Given the description of an element on the screen output the (x, y) to click on. 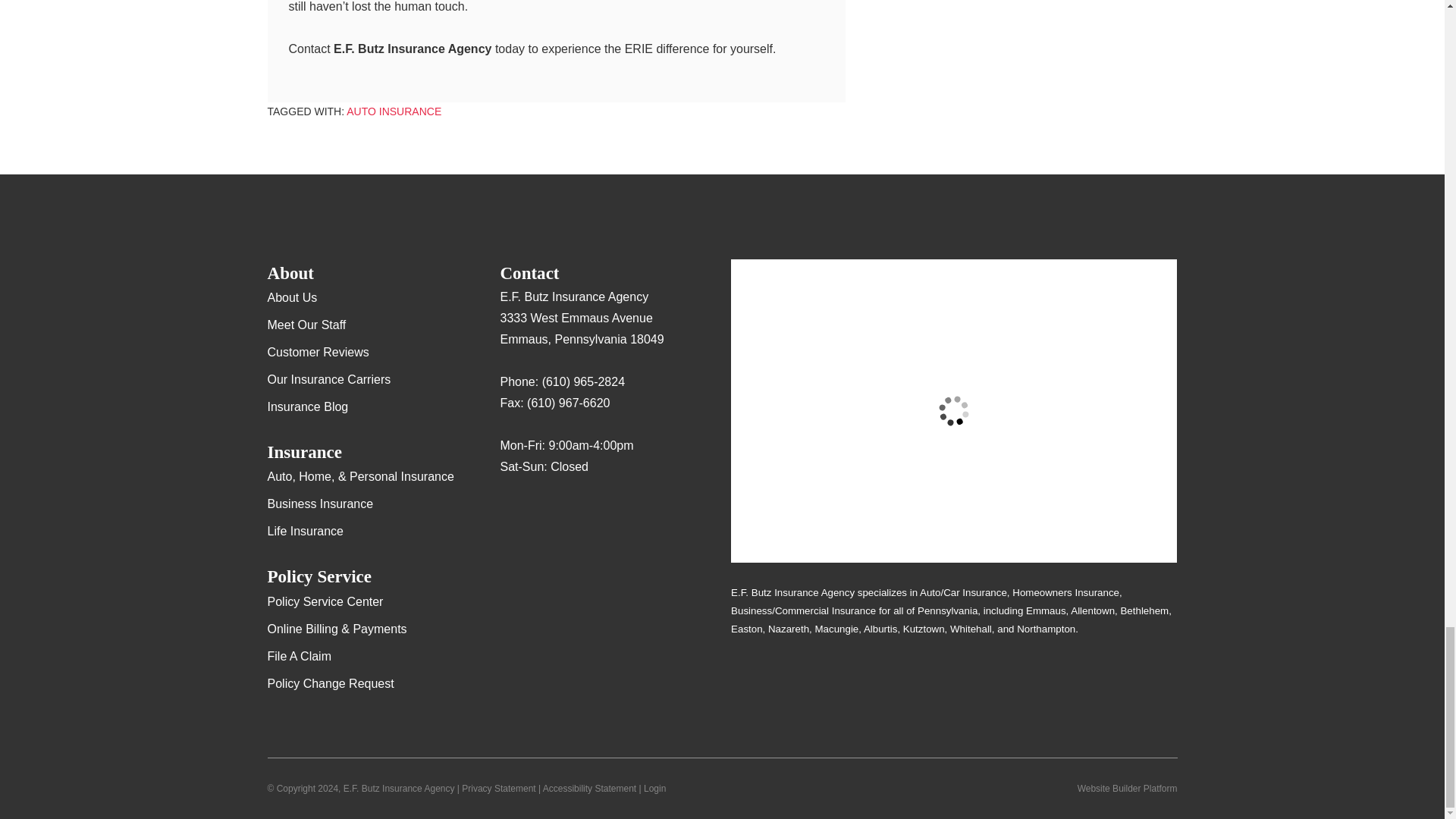
Google Maps (511, 511)
Facebook (571, 511)
Auto Insurance (393, 111)
Yelp (541, 511)
